Given the description of an element on the screen output the (x, y) to click on. 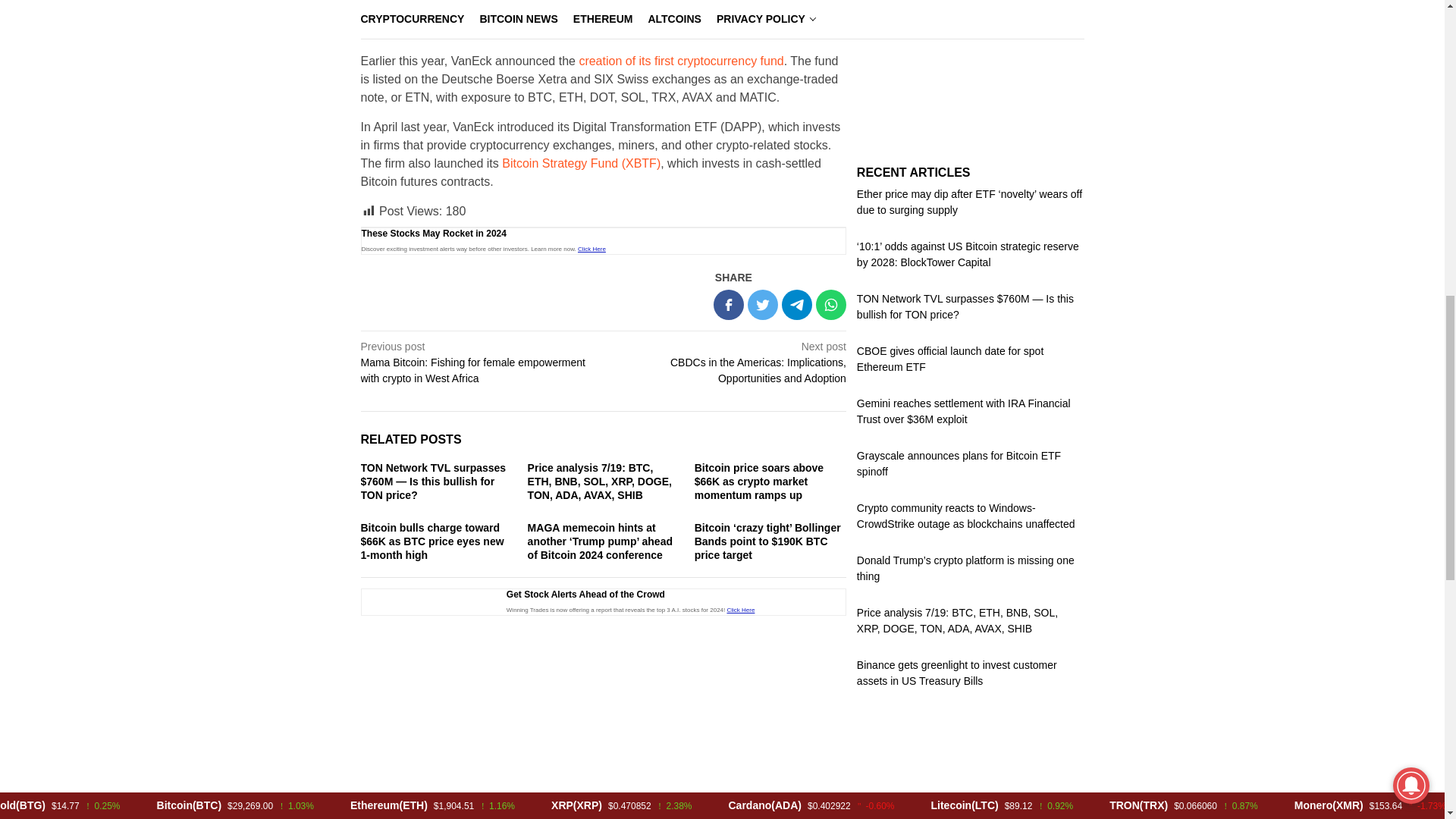
creation of its first cryptocurrency fund (679, 60)
Telegram Share (796, 304)
WhatsApp this (830, 304)
Tweet this (762, 304)
Share this (728, 304)
